Given the description of an element on the screen output the (x, y) to click on. 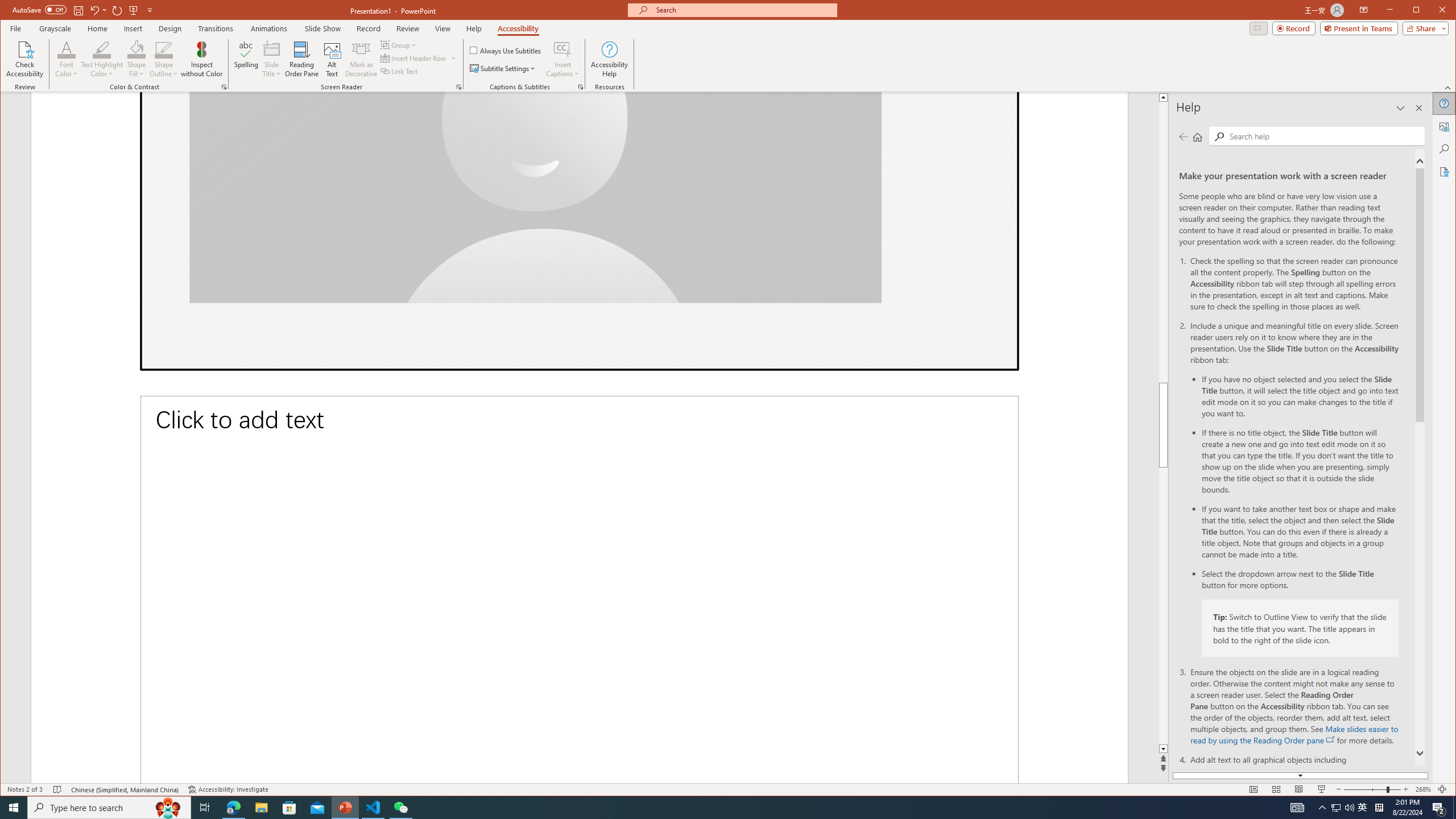
Screen Reader (458, 86)
Previous page (1183, 136)
Captions & Subtitles (580, 86)
